Given the description of an element on the screen output the (x, y) to click on. 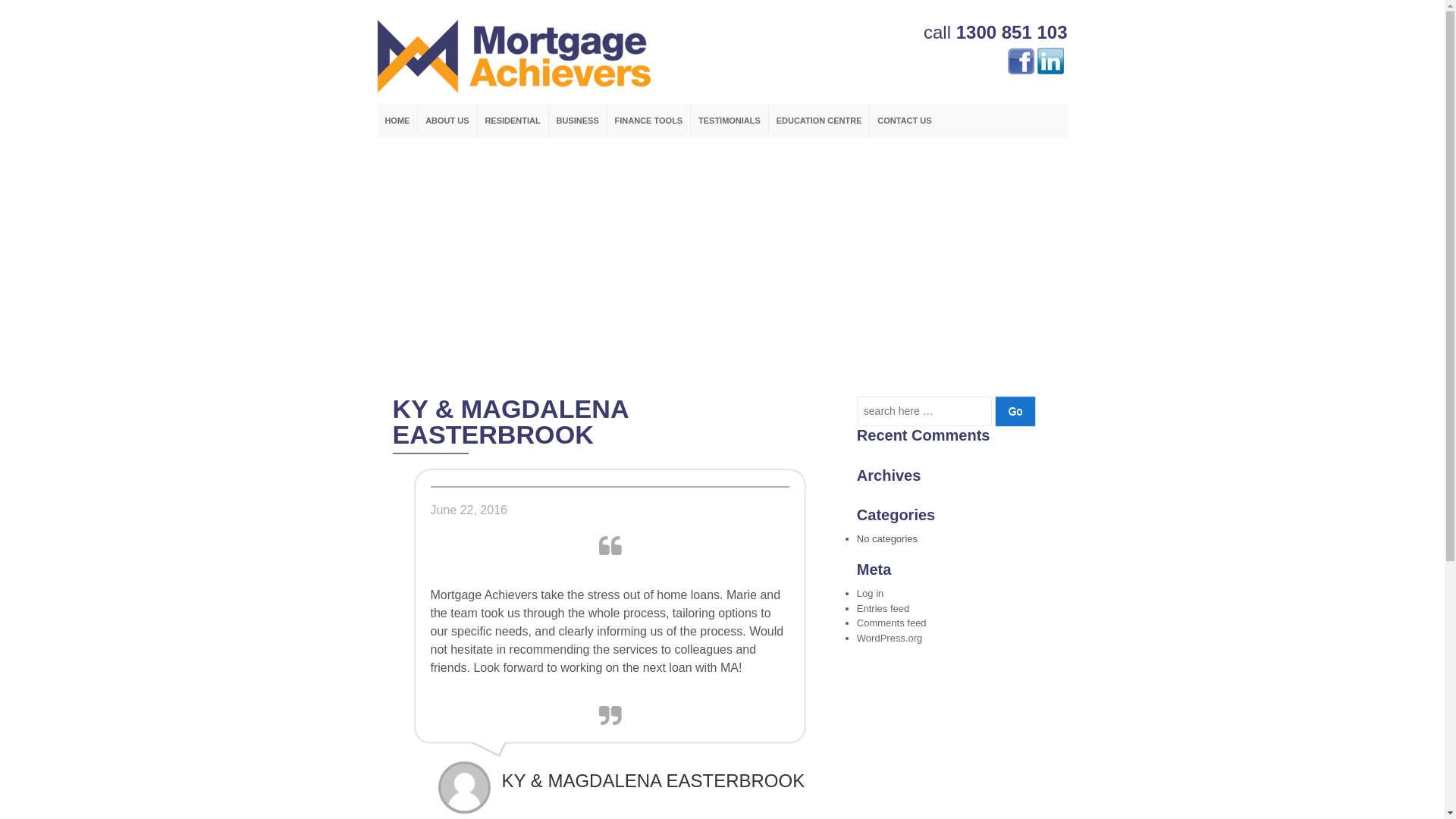
EDUCATION CENTRE Element type: text (818, 120)
RESIDENTIAL Element type: text (512, 120)
ABOUT US Element type: text (446, 120)
Log in Element type: text (869, 593)
CONTACT US Element type: text (903, 120)
TESTIMONIALS Element type: text (729, 120)
Go Element type: text (1015, 410)
HOME Element type: text (397, 120)
WordPress.org Element type: text (889, 637)
Entries feed Element type: text (882, 608)
BUSINESS Element type: text (577, 120)
FINANCE TOOLS Element type: text (648, 120)
Comments feed Element type: text (891, 622)
